Given the description of an element on the screen output the (x, y) to click on. 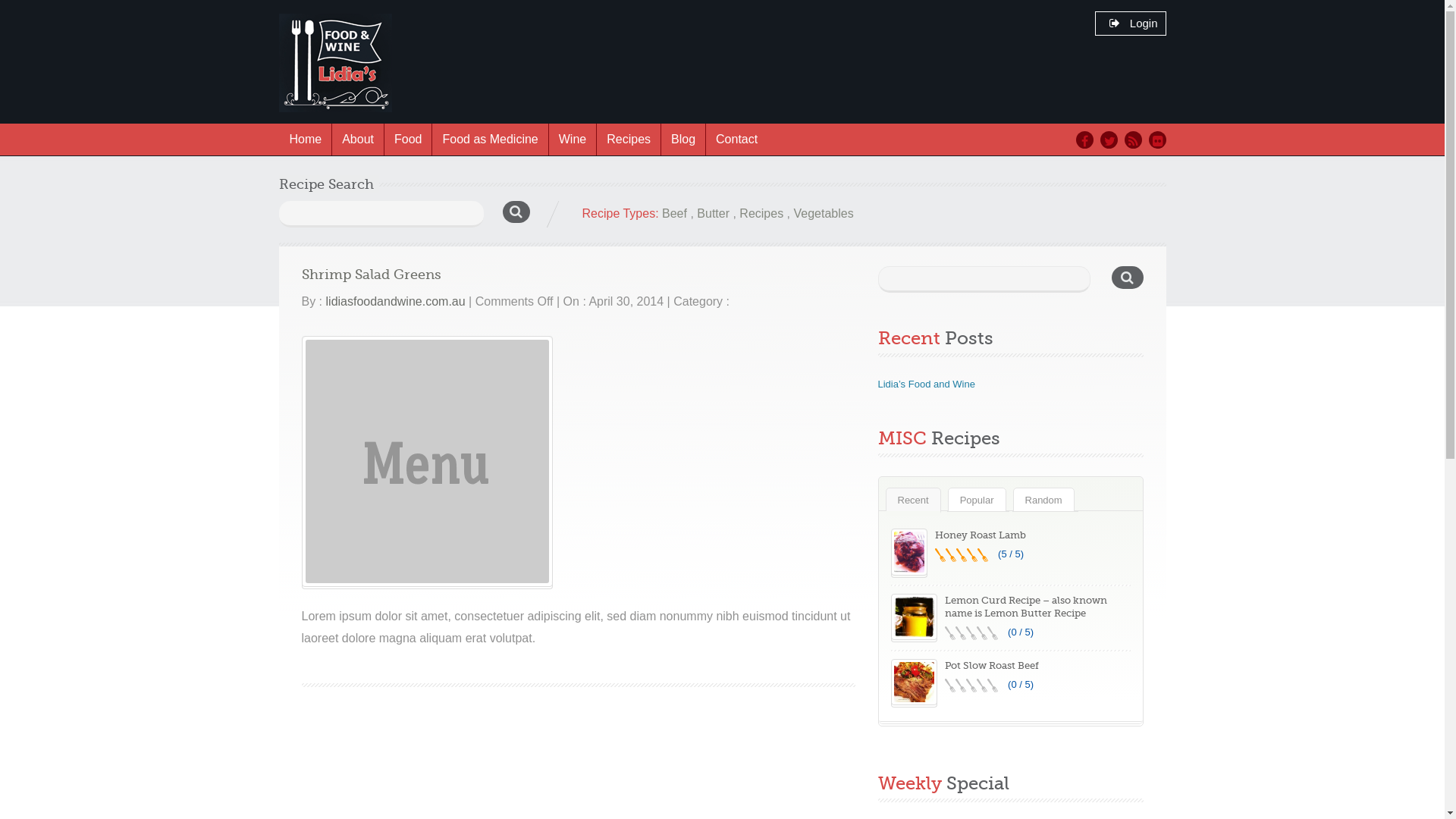
Blog Element type: text (682, 139)
Butter Element type: text (712, 213)
Honey Roast Lamb Element type: text (979, 534)
Home Element type: text (305, 139)
Shrimp Salad Greens Element type: hover (426, 460)
RSS Element type: text (1132, 139)
Food as Medicine Element type: text (489, 139)
  Login Element type: text (1133, 22)
Beef Element type: text (674, 213)
Flickr Element type: text (1156, 139)
Recipes Element type: text (761, 213)
Pot Slow Roast Beef Element type: text (991, 665)
Twitter Element type: text (1108, 139)
Search Element type: text (1128, 284)
Wine Element type: text (572, 139)
Facebook Element type: text (1083, 139)
Vegetables Element type: text (823, 213)
About Element type: text (357, 139)
lidiasfoodandwine.com.au Element type: text (395, 300)
Recipes Element type: text (628, 139)
Search Element type: text (520, 221)
Contact Element type: text (736, 139)
Food Element type: text (407, 139)
